Given the description of an element on the screen output the (x, y) to click on. 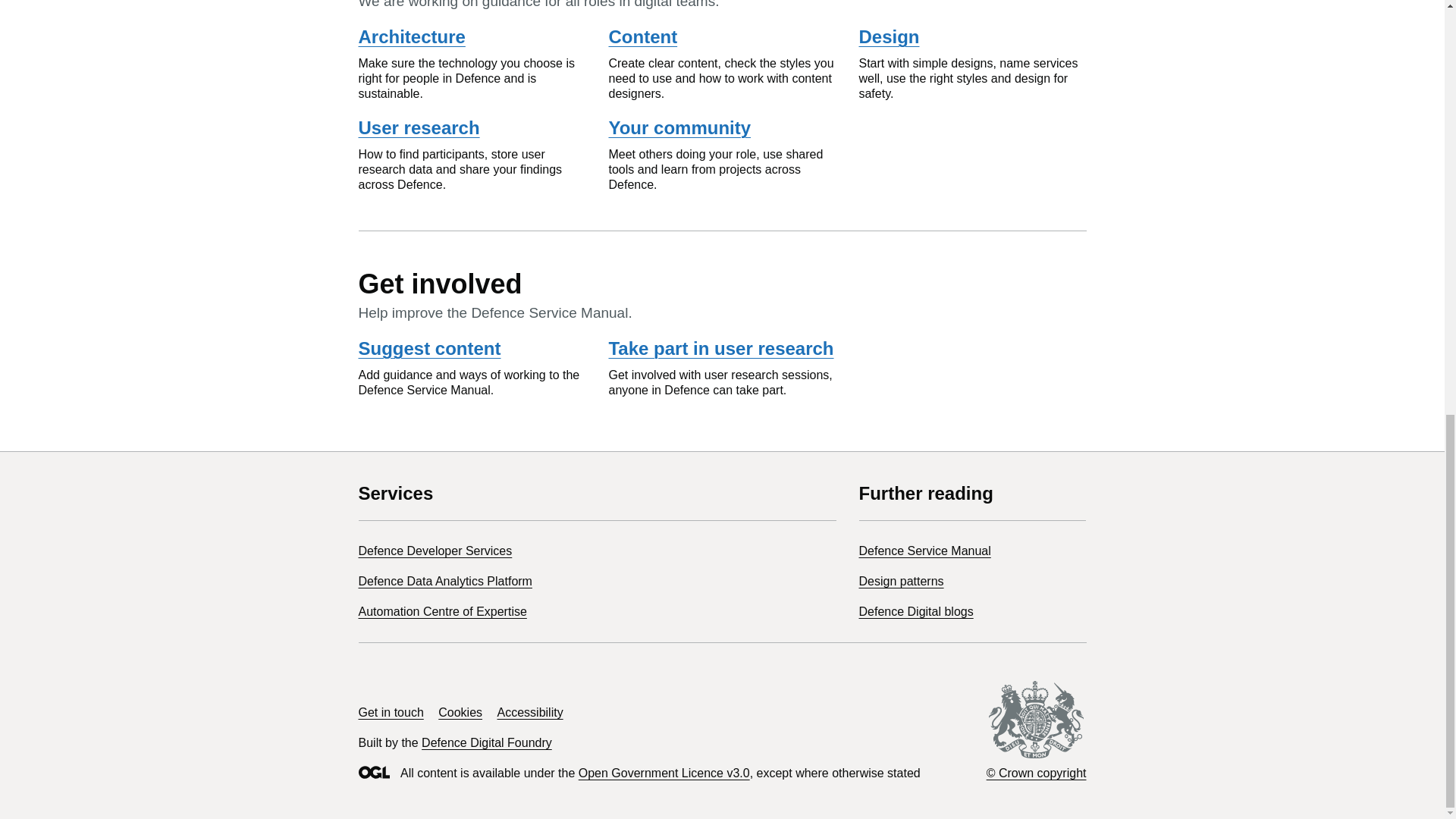
Content (642, 36)
Defence Digital Foundry (486, 742)
Get in touch (390, 712)
Defence Data Analytics Platform (444, 581)
Defence Service Manual (924, 550)
Architecture (411, 36)
Design patterns (901, 581)
Your community (679, 127)
Accessibility (530, 712)
Cookies (459, 712)
Take part in user research (720, 348)
Open Government Licence v3.0 (663, 772)
Defence Digital blogs (915, 611)
Design (888, 36)
User research (418, 127)
